Given the description of an element on the screen output the (x, y) to click on. 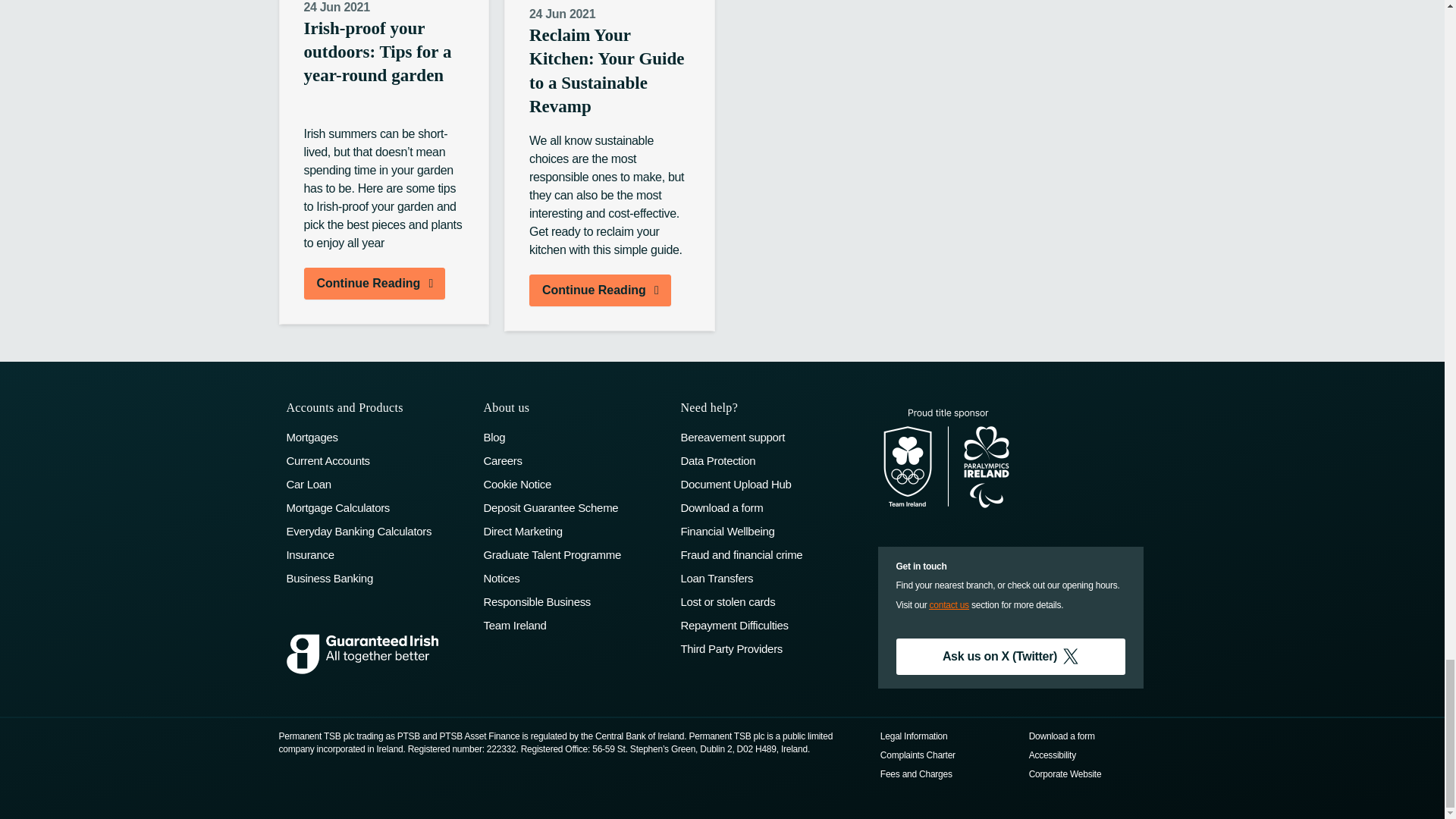
Continue Reading (600, 290)
Everyday Banking Calculators (377, 530)
Cookie Notice (574, 483)
Mortgage Calculators (377, 507)
Direct Marketing (574, 530)
Insurance (377, 554)
Continue Reading (373, 283)
Careers (574, 460)
Blog (574, 437)
Irish-proof your outdoors: Tips for a year-round garden (383, 67)
Mortgages (377, 437)
Reclaim Your Kitchen: Your Guide to a Sustainable Revamp (609, 74)
Document Upload Hub (770, 483)
Current Accounts (377, 460)
Car Loan (377, 483)
